Given the description of an element on the screen output the (x, y) to click on. 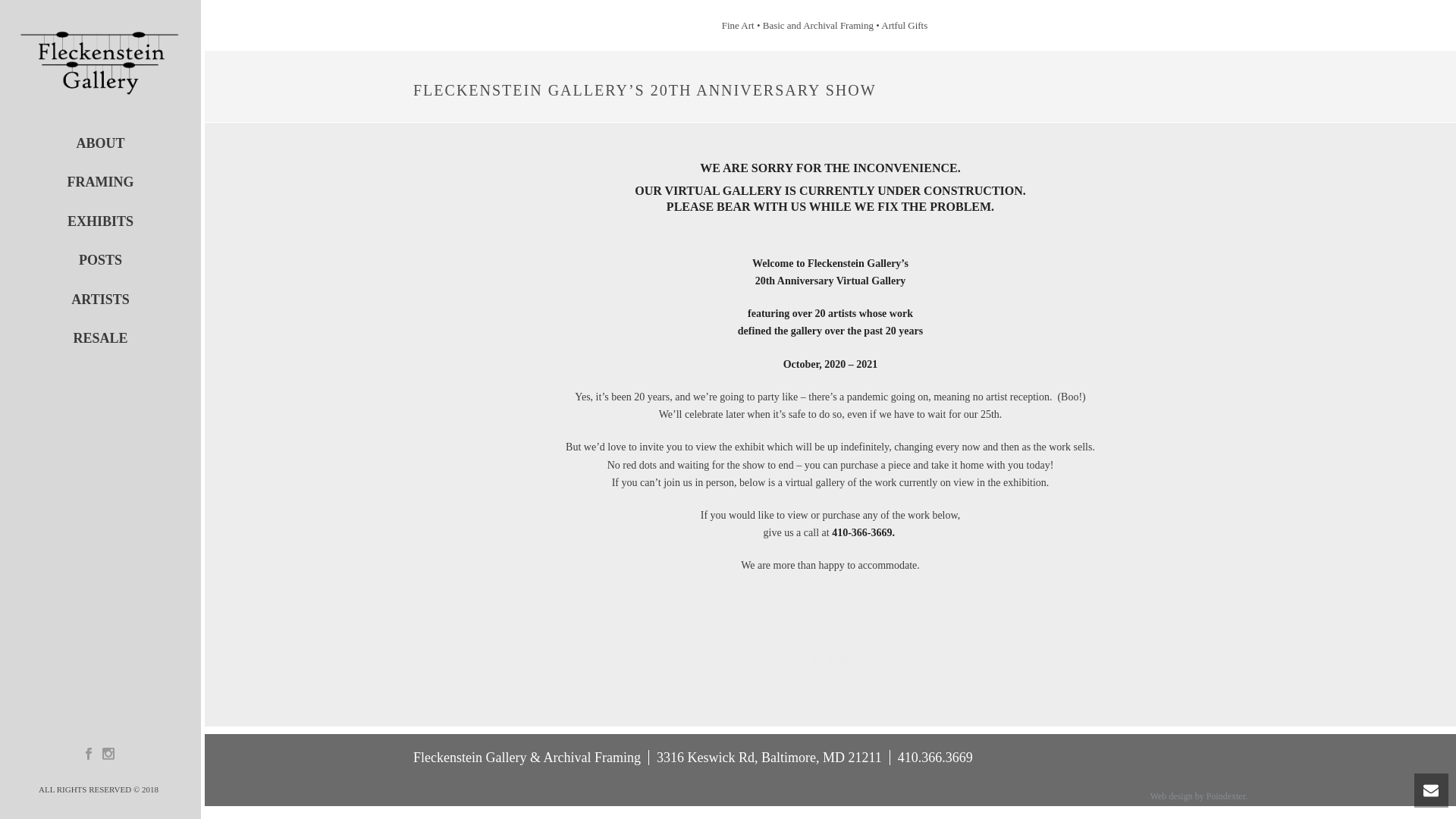
RESALE (100, 338)
ARTISTS (100, 299)
EXHIBITS (100, 221)
ABOUT (100, 143)
3316 Keswick Rd, Baltimore, MD 21211 (769, 757)
Fleckenstein Gallery (100, 61)
POSTS (100, 260)
FRAMING (100, 181)
410.366.3669 (935, 757)
